Given the description of an element on the screen output the (x, y) to click on. 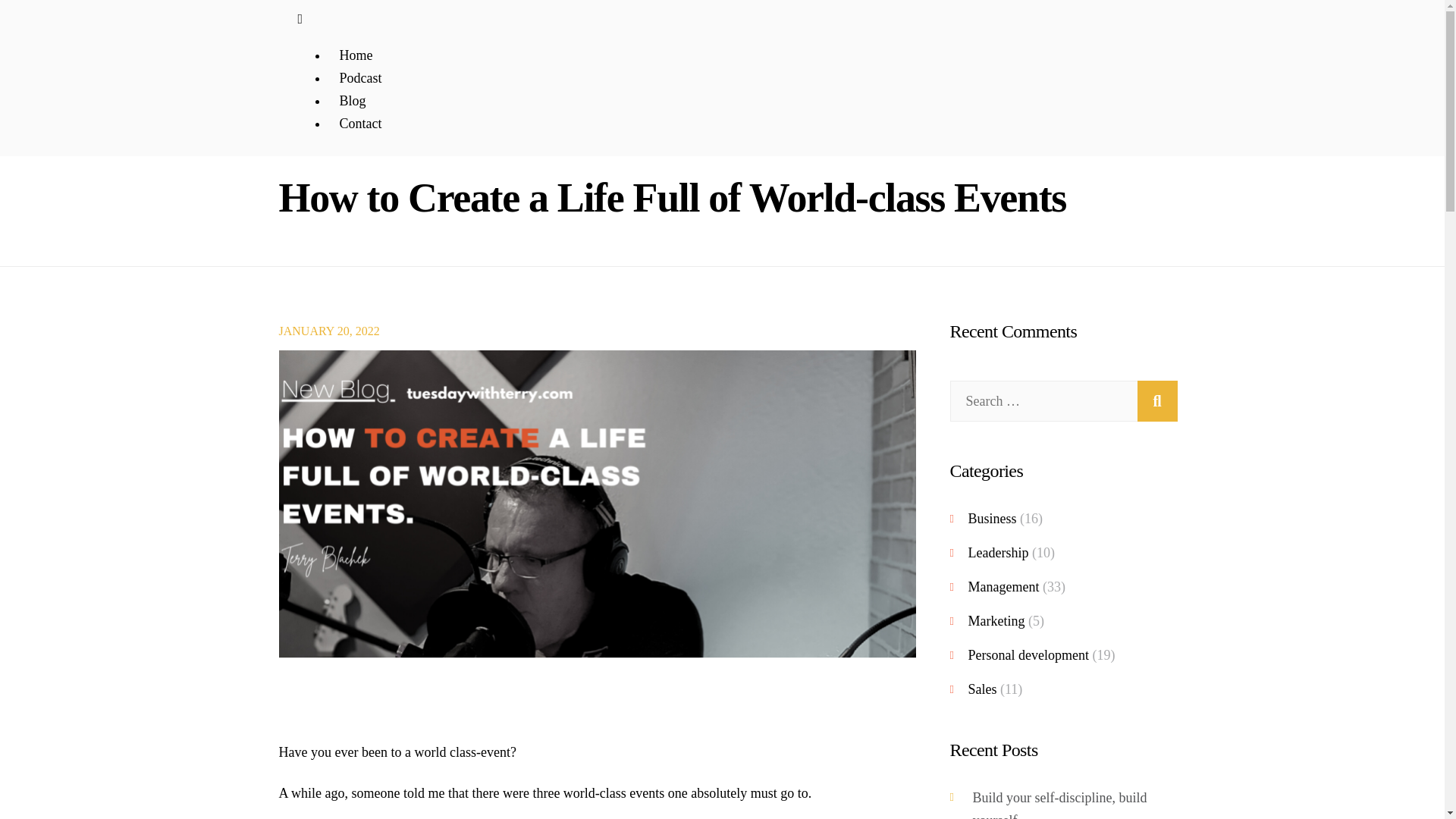
Personal development (1027, 654)
Blog (352, 100)
Home (355, 55)
Management (1003, 586)
Business (992, 518)
Sales (981, 688)
Build your self-discipline, build yourself (1059, 804)
Leadership (997, 552)
Podcast (360, 77)
Contact (360, 123)
